Given the description of an element on the screen output the (x, y) to click on. 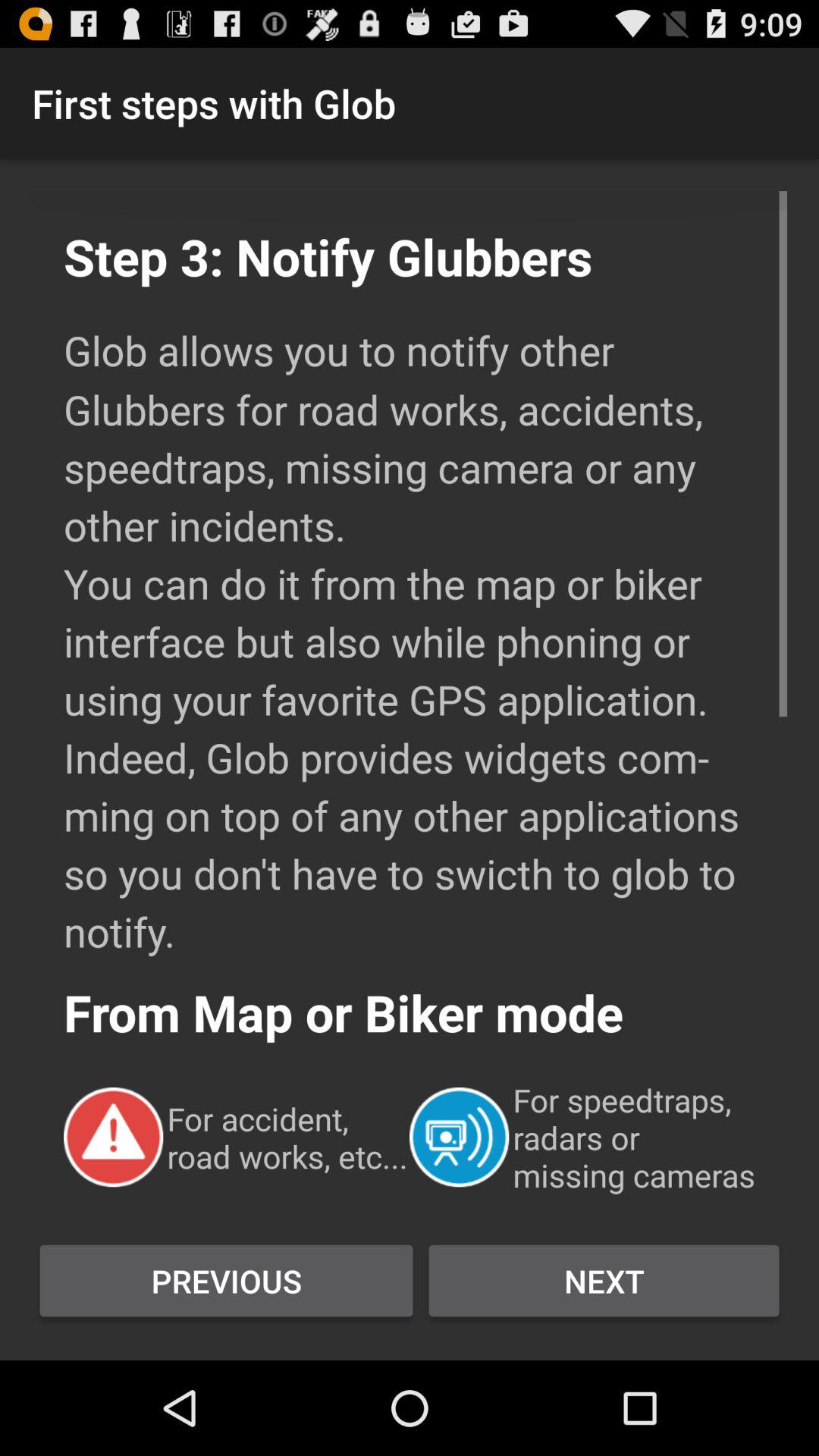
open button next to previous item (603, 1280)
